Given the description of an element on the screen output the (x, y) to click on. 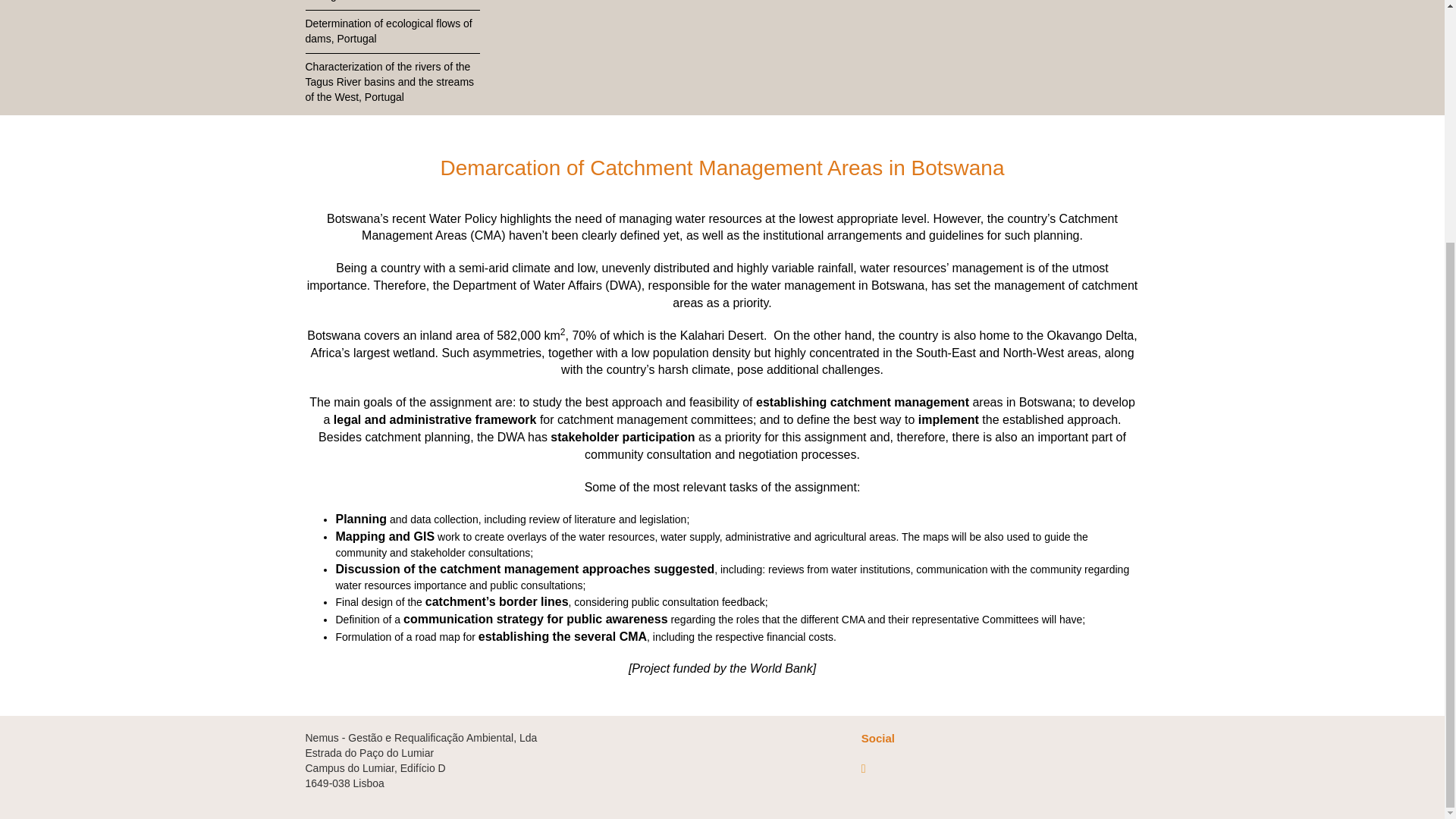
Determination of ecological flows of dams, Portugal (391, 31)
